Given the description of an element on the screen output the (x, y) to click on. 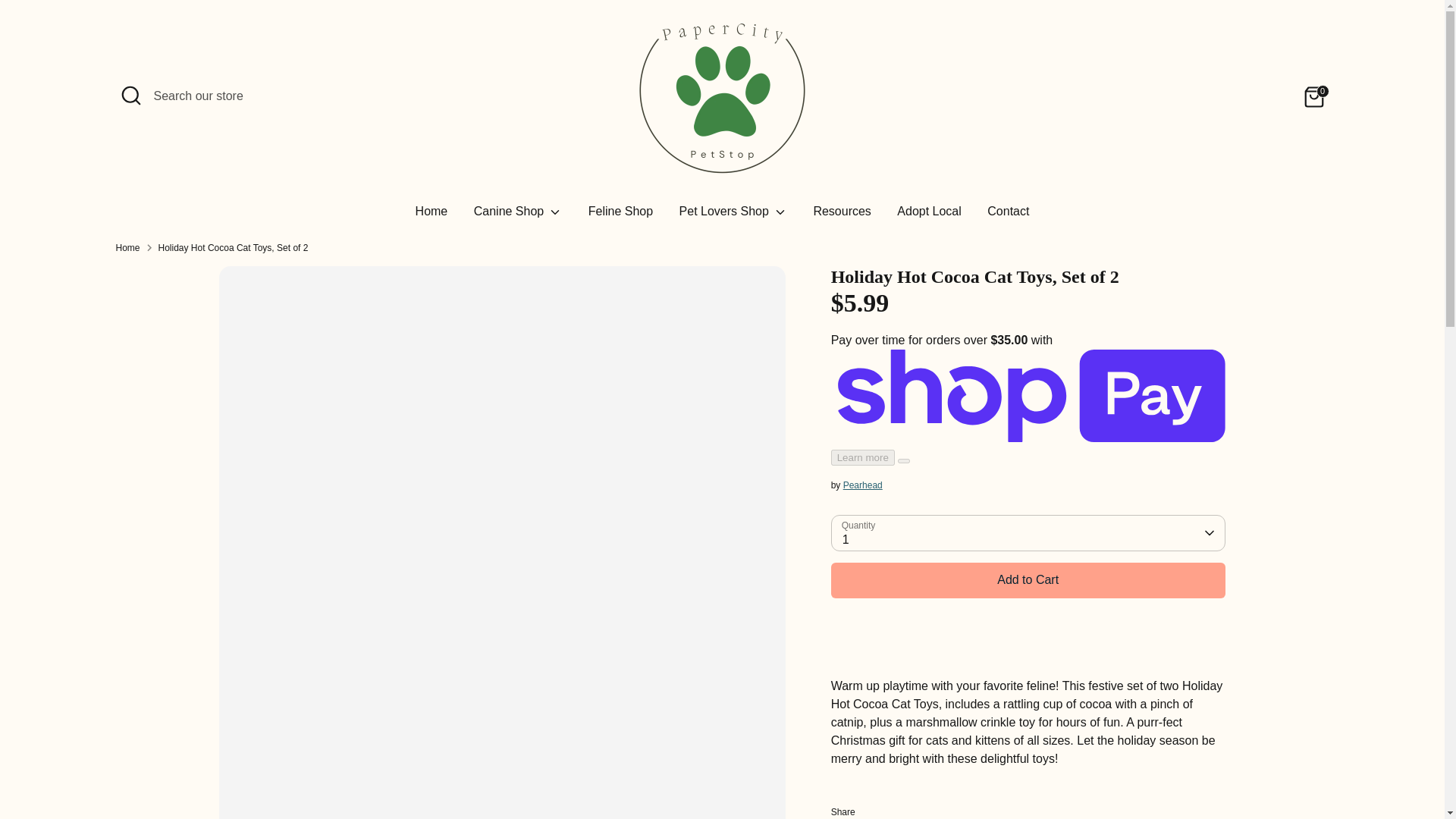
Google Pay (1160, 771)
0 (1312, 96)
Apple Pay (1039, 771)
Home (432, 216)
Meta Pay (1130, 771)
Diners Club (1069, 771)
Venmo (1282, 771)
Discover (1100, 771)
American Express (1008, 771)
PayPal (1221, 771)
